Given the description of an element on the screen output the (x, y) to click on. 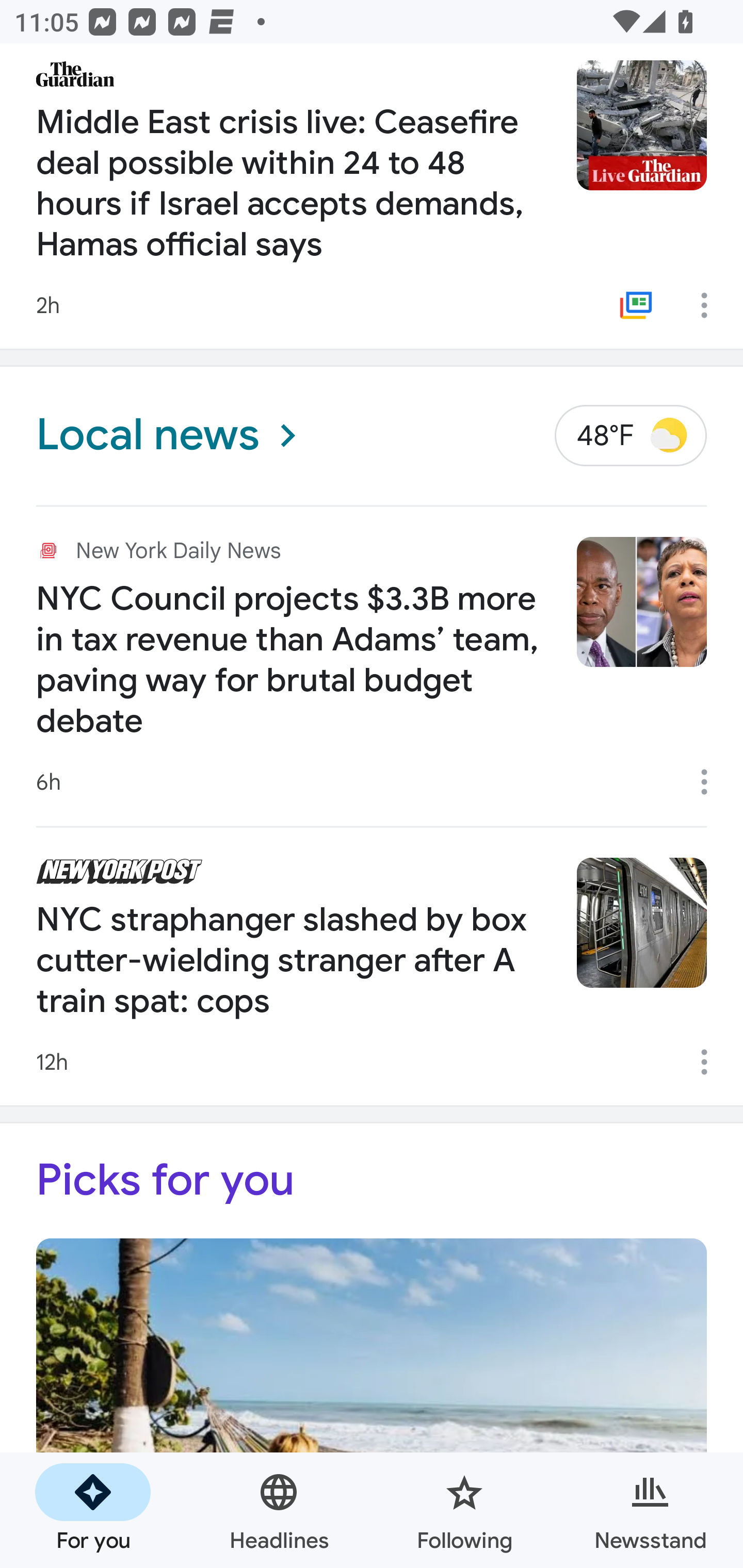
More options (711, 304)
More options (711, 781)
More options (711, 1062)
For you (92, 1509)
Headlines (278, 1509)
Following (464, 1509)
Newsstand (650, 1509)
